Given the description of an element on the screen output the (x, y) to click on. 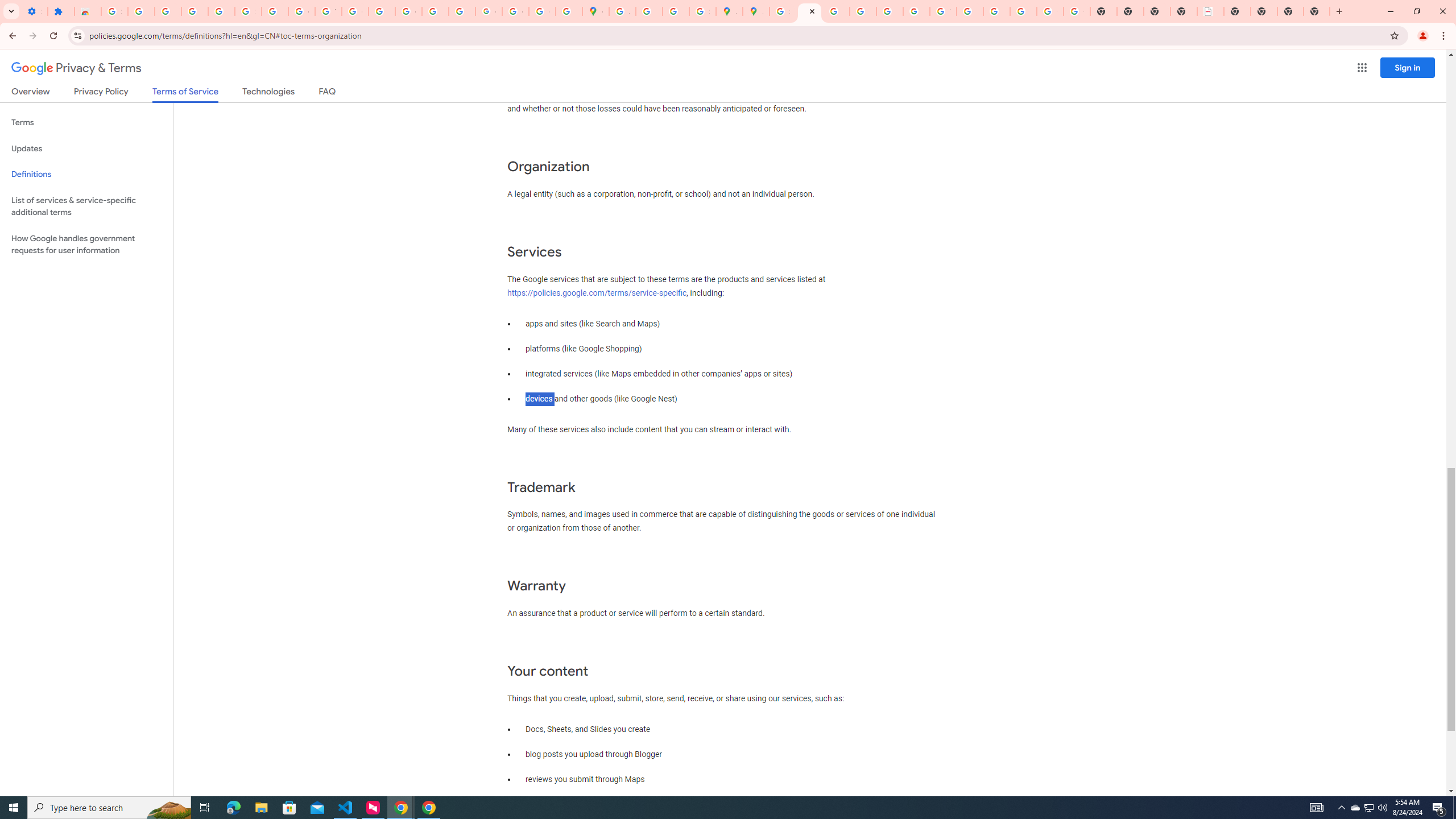
LAAD Defence & Security 2025 | BAE Systems (1210, 11)
Privacy Help Center - Policies Help (836, 11)
